Given the description of an element on the screen output the (x, y) to click on. 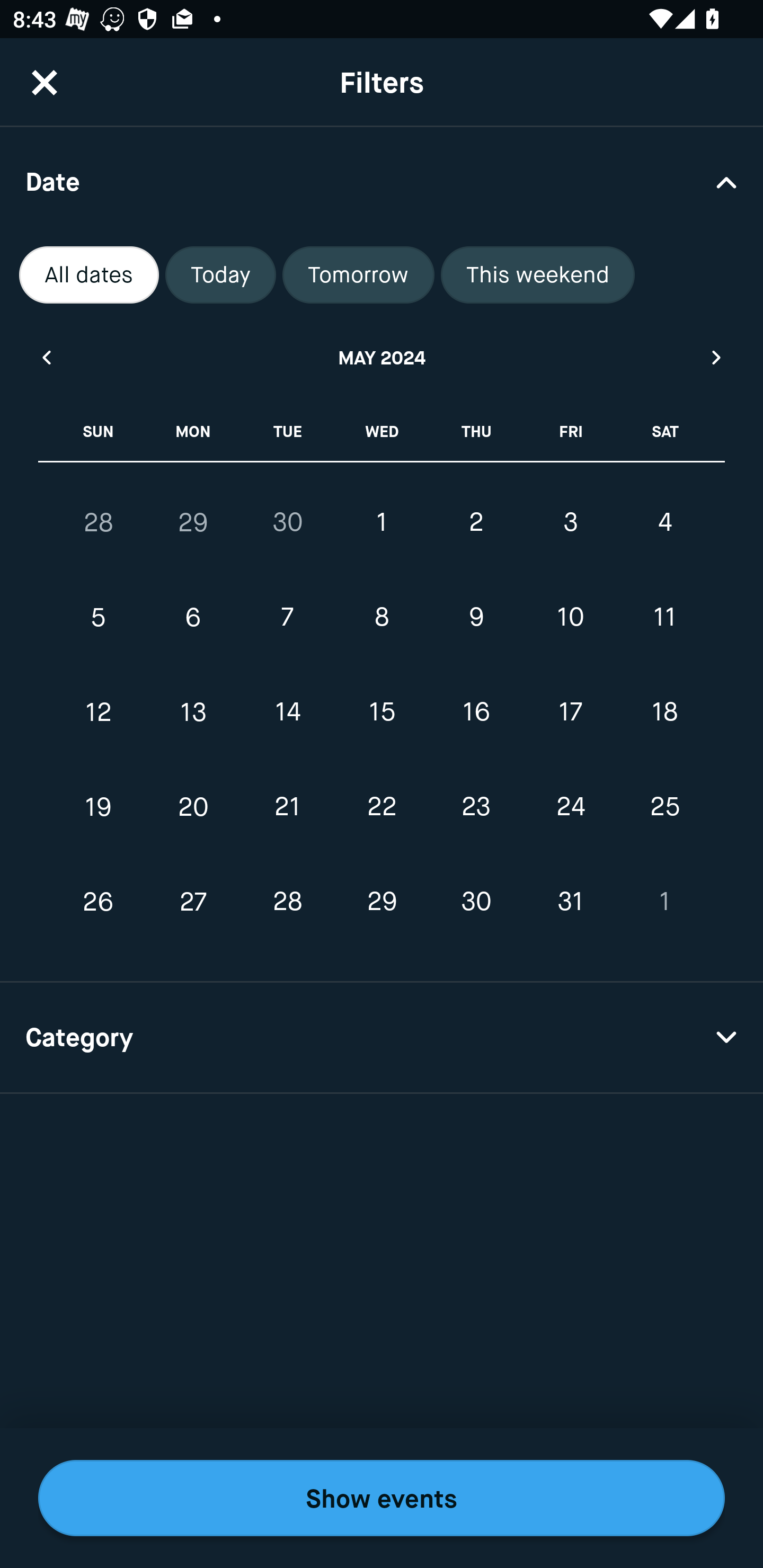
CloseButton (44, 82)
Date Drop Down Arrow (381, 181)
All dates (88, 274)
Today (220, 274)
Tomorrow (358, 274)
This weekend (537, 274)
Previous (45, 357)
Next (717, 357)
28 (98, 522)
29 (192, 522)
30 (287, 522)
1 (381, 522)
2 (475, 522)
3 (570, 522)
4 (664, 522)
5 (98, 617)
6 (192, 617)
7 (287, 617)
8 (381, 617)
9 (475, 617)
10 (570, 617)
11 (664, 617)
12 (98, 711)
13 (192, 711)
14 (287, 711)
15 (381, 711)
16 (475, 711)
17 (570, 711)
18 (664, 711)
19 (98, 806)
20 (192, 806)
21 (287, 806)
22 (381, 806)
23 (475, 806)
24 (570, 806)
25 (664, 806)
26 (98, 901)
27 (192, 901)
28 (287, 901)
29 (381, 901)
30 (475, 901)
31 (570, 901)
1 (664, 901)
Category Drop Down Arrow (381, 1038)
Show events (381, 1497)
